Given the description of an element on the screen output the (x, y) to click on. 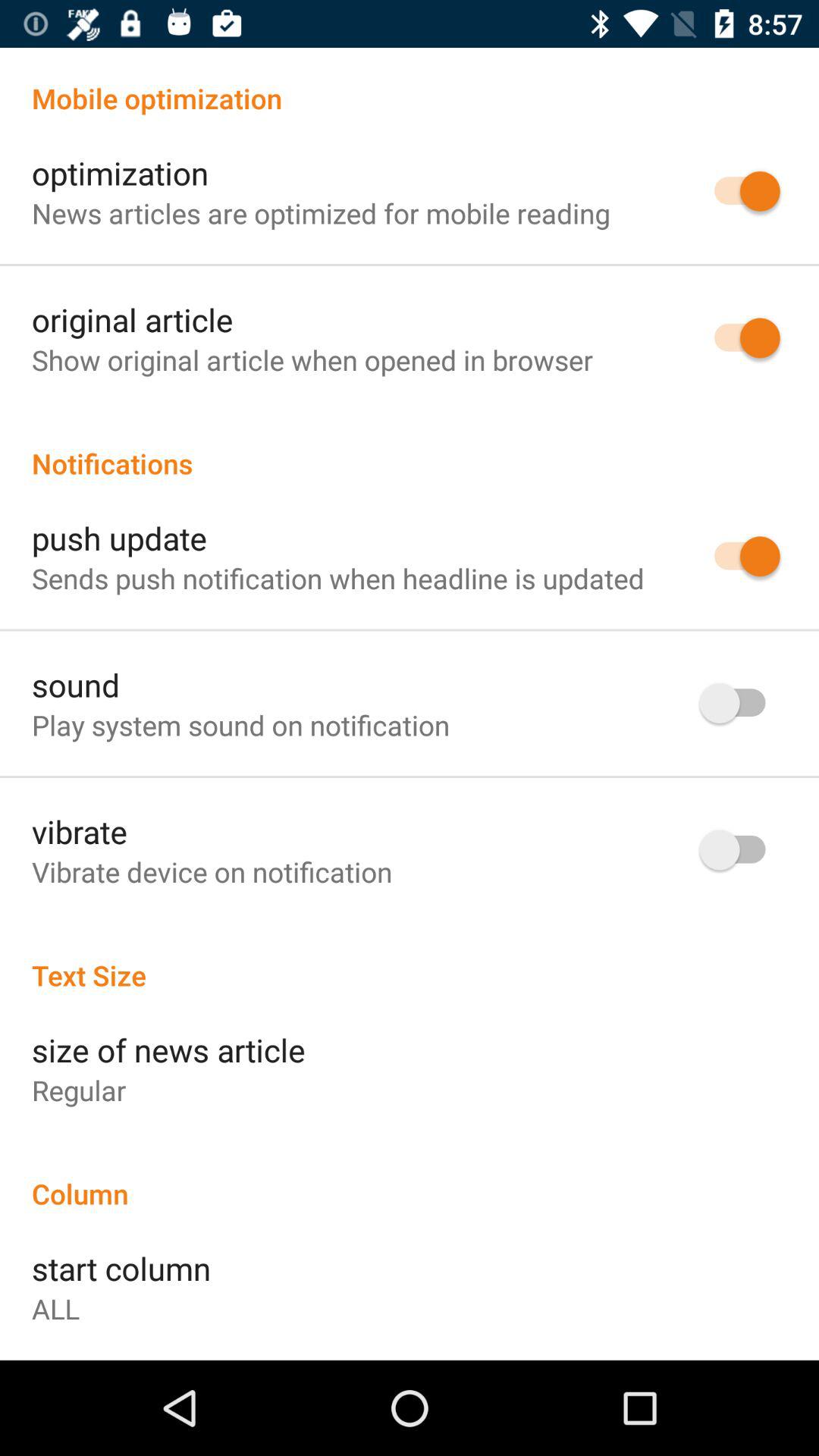
press the push update app (119, 537)
